Given the description of an element on the screen output the (x, y) to click on. 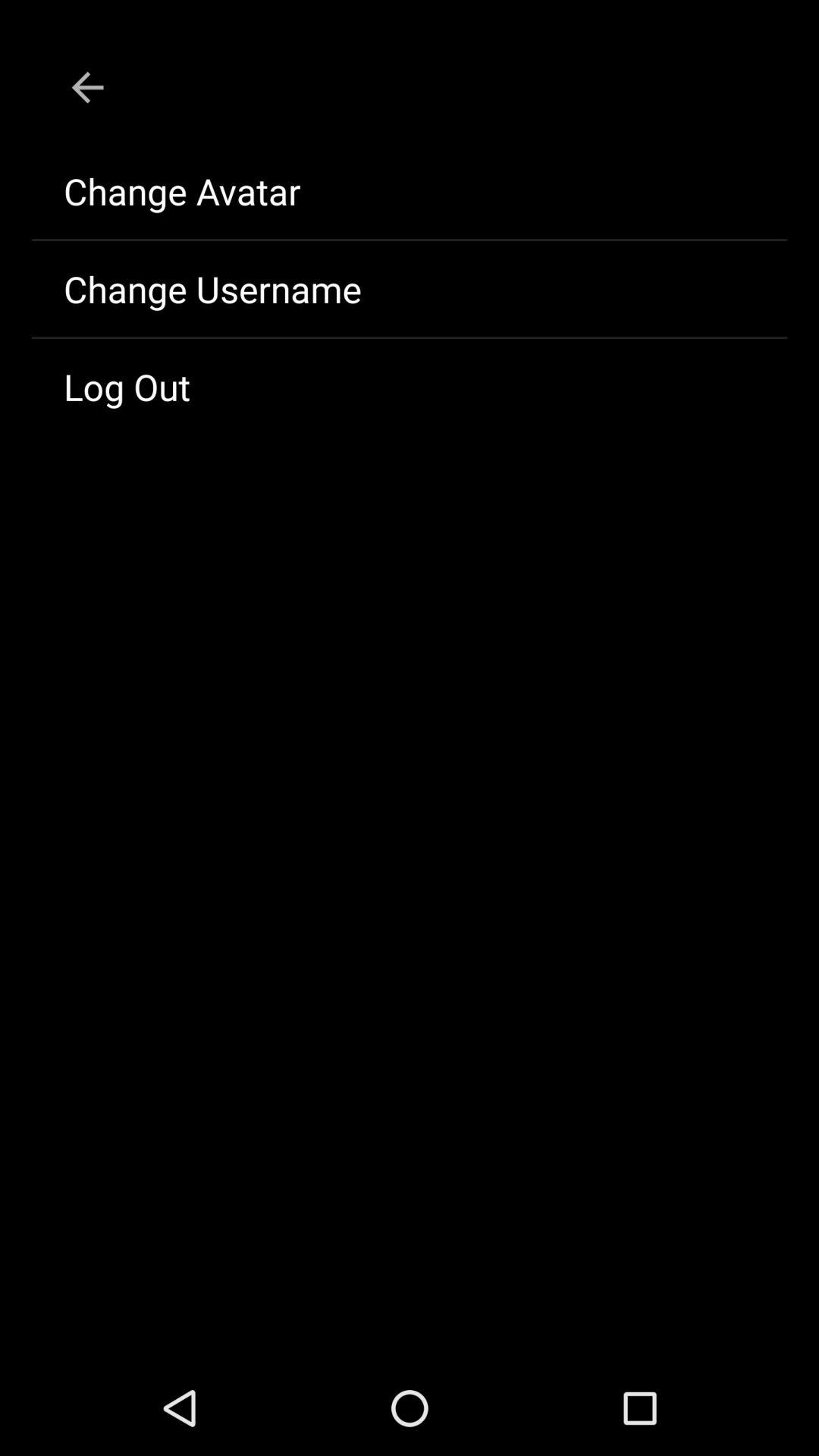
turn on the change username item (409, 288)
